Given the description of an element on the screen output the (x, y) to click on. 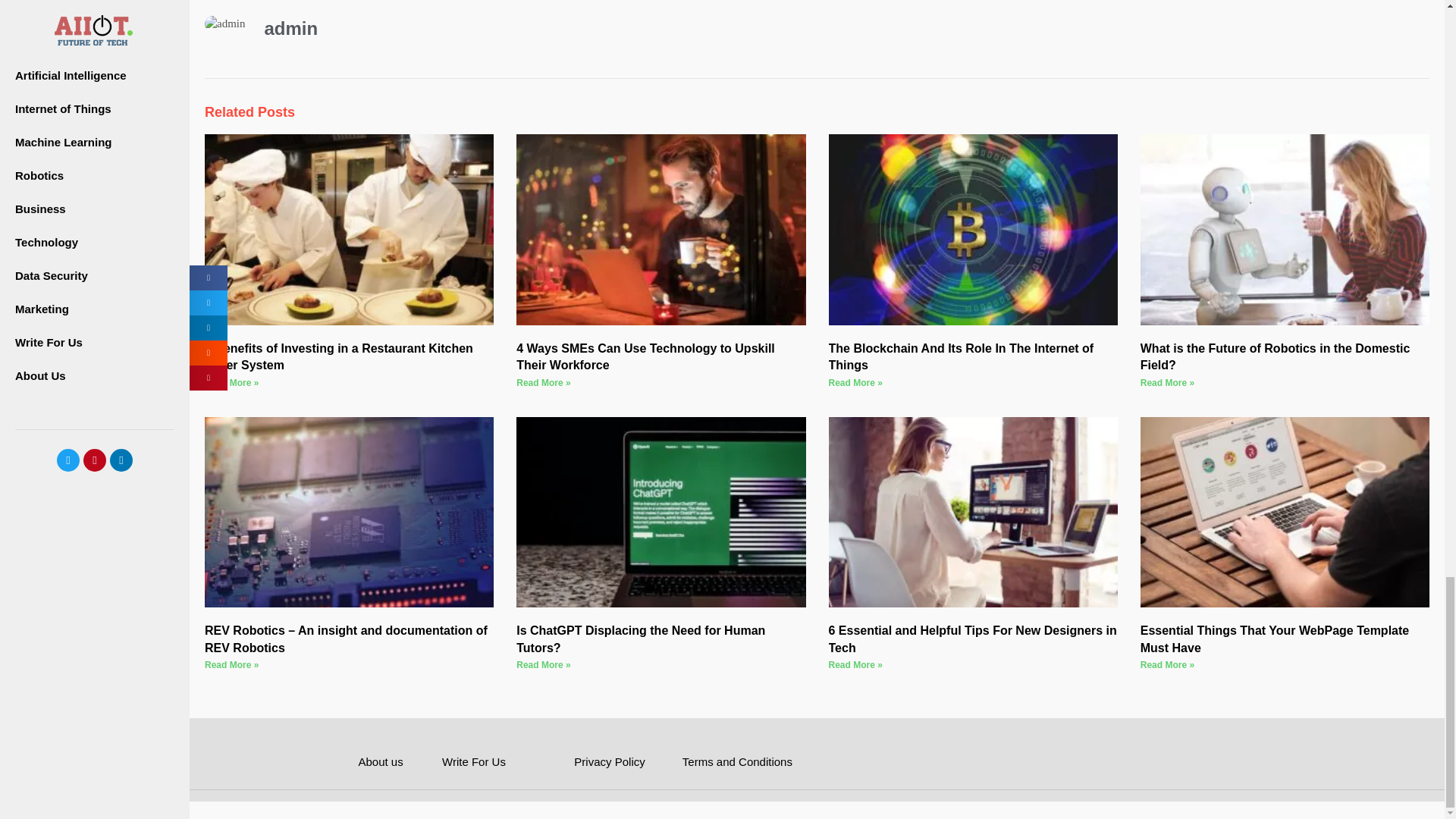
4 Ways SMEs Can Use Technology to Upskill Their Workforce (645, 356)
5 Benefits of Investing in a Restaurant Kitchen Order System (339, 356)
